Given the description of an element on the screen output the (x, y) to click on. 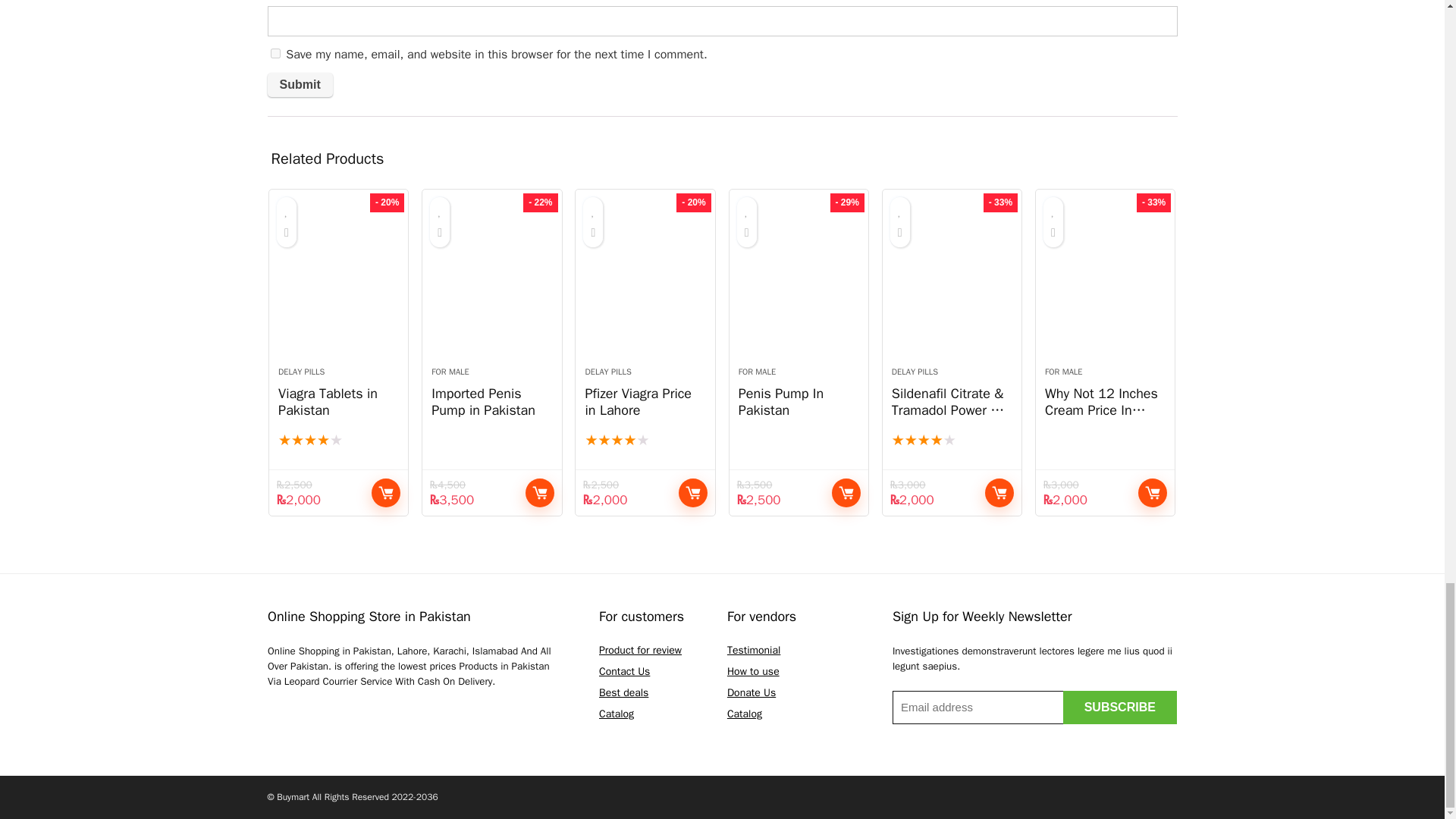
Subscribe (1119, 707)
Rated 4.17 out of 5 (644, 440)
yes (274, 53)
Rated 4.23 out of 5 (951, 440)
Submit (298, 84)
Rated 4.22 out of 5 (338, 440)
